Given the description of an element on the screen output the (x, y) to click on. 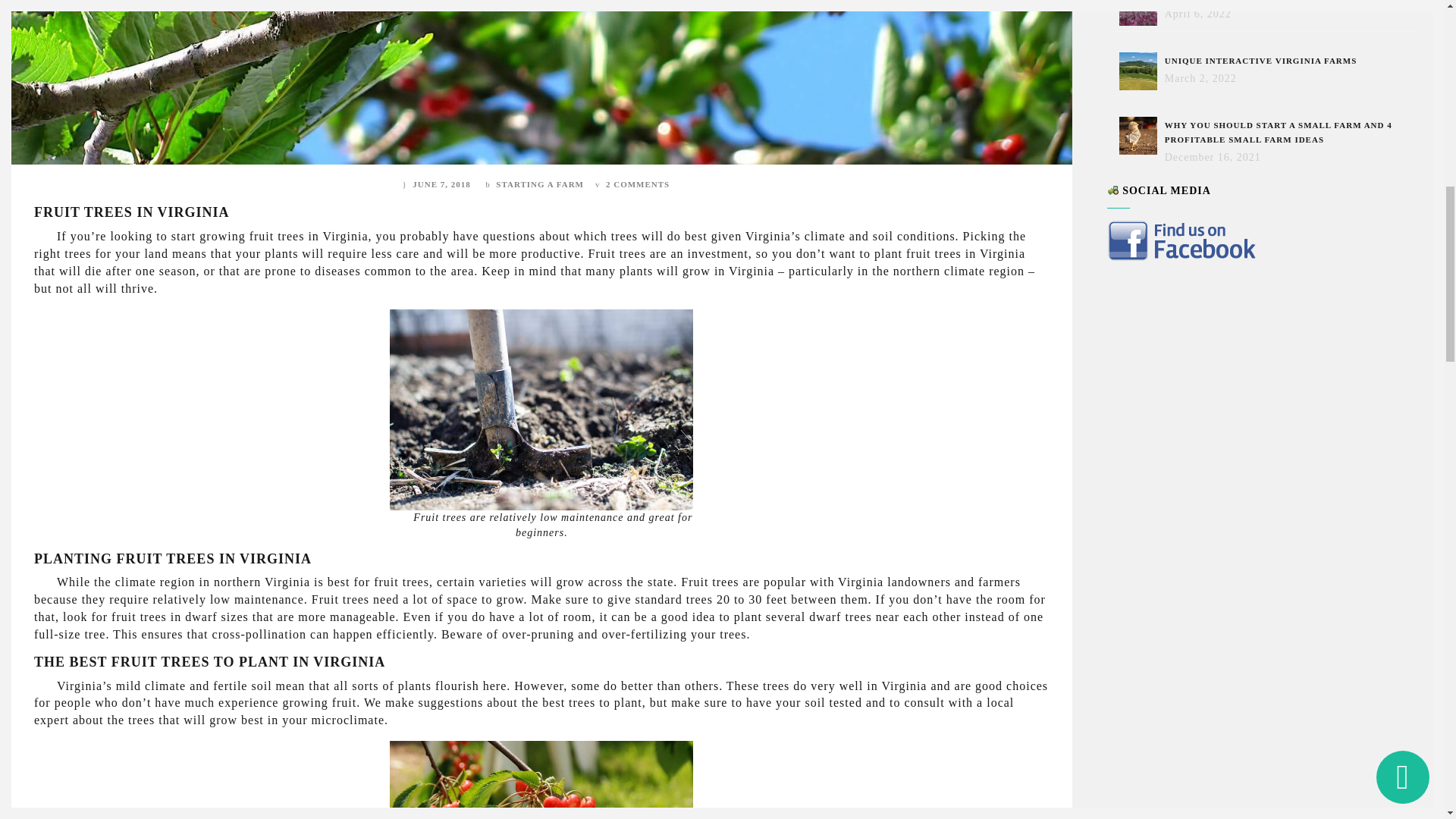
2 COMMENTS (637, 184)
STARTING A FARM (539, 184)
JUNE 7, 2018 (441, 184)
1:27 pm (441, 184)
How To Start A Microgreens Farm (1141, 12)
